Given the description of an element on the screen output the (x, y) to click on. 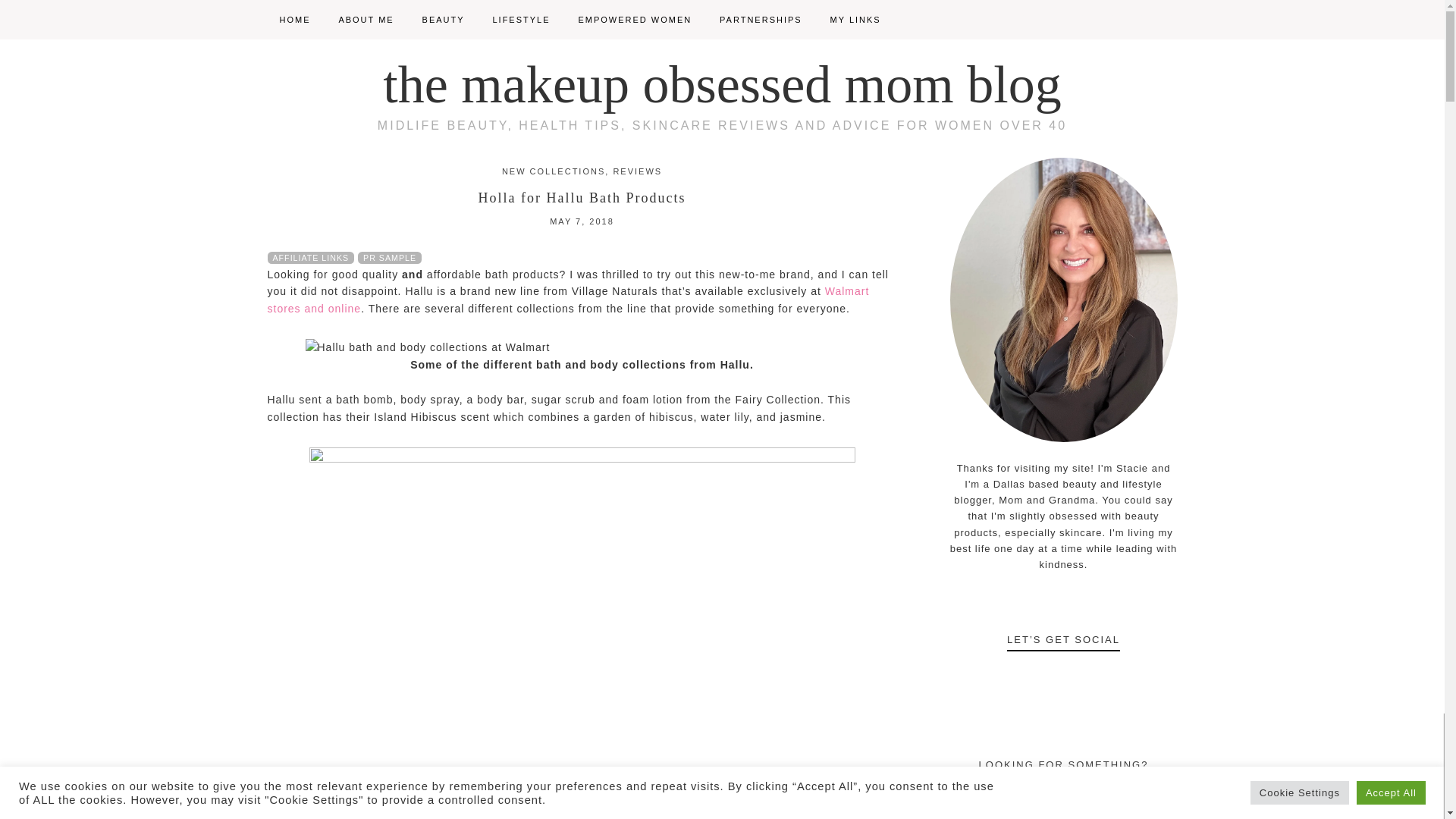
LIFESTYLE (521, 19)
REVIEWS (637, 171)
MY LINKS (855, 19)
the makeup obsessed mom blog (721, 84)
HOME (293, 19)
EMPOWERED WOMEN (634, 19)
ABOUT ME (366, 19)
NEW COLLECTIONS (553, 171)
BEAUTY (443, 19)
PARTNERSHIPS (760, 19)
